Given the description of an element on the screen output the (x, y) to click on. 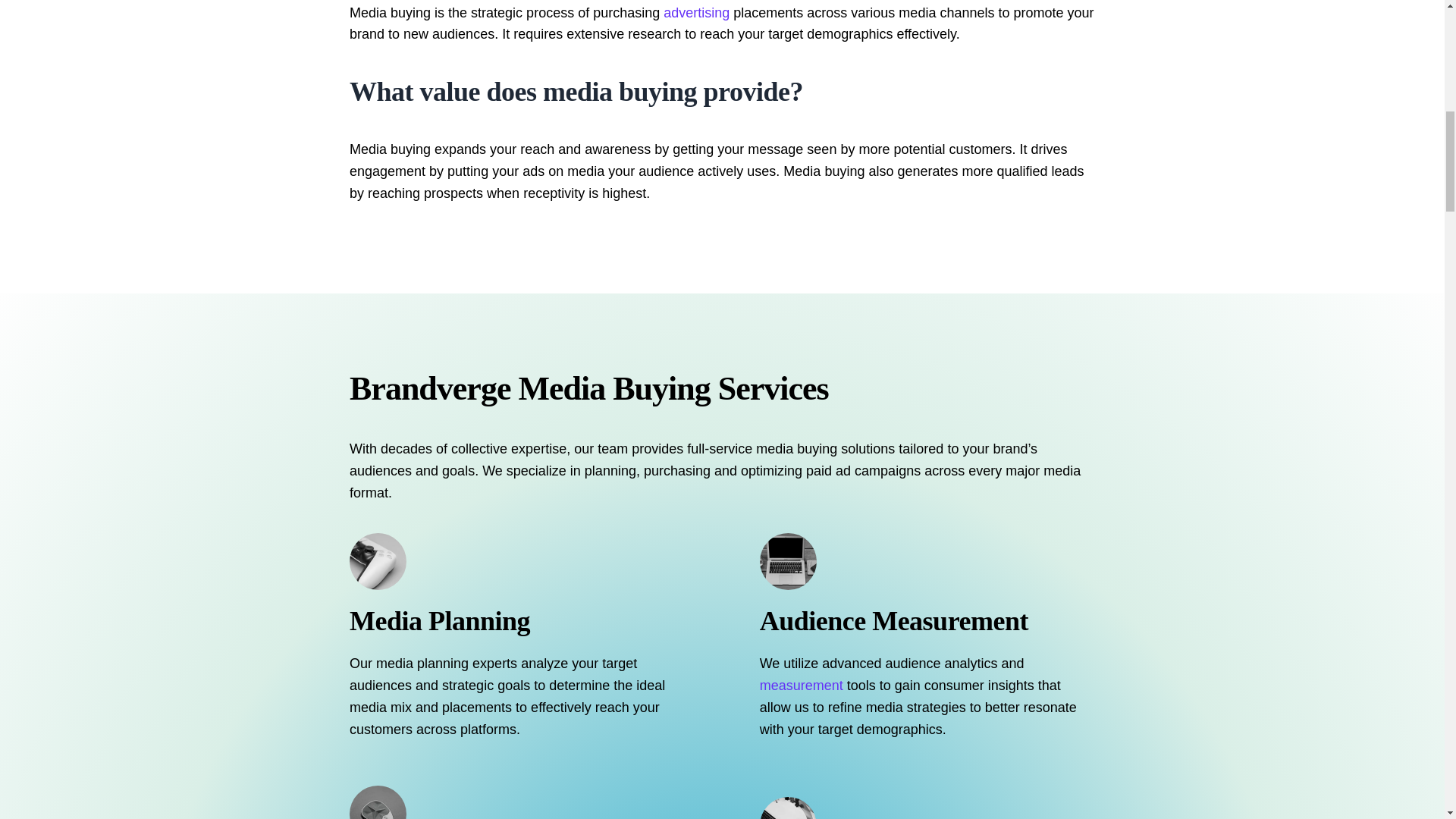
advertising (696, 12)
measurement (801, 685)
